Given the description of an element on the screen output the (x, y) to click on. 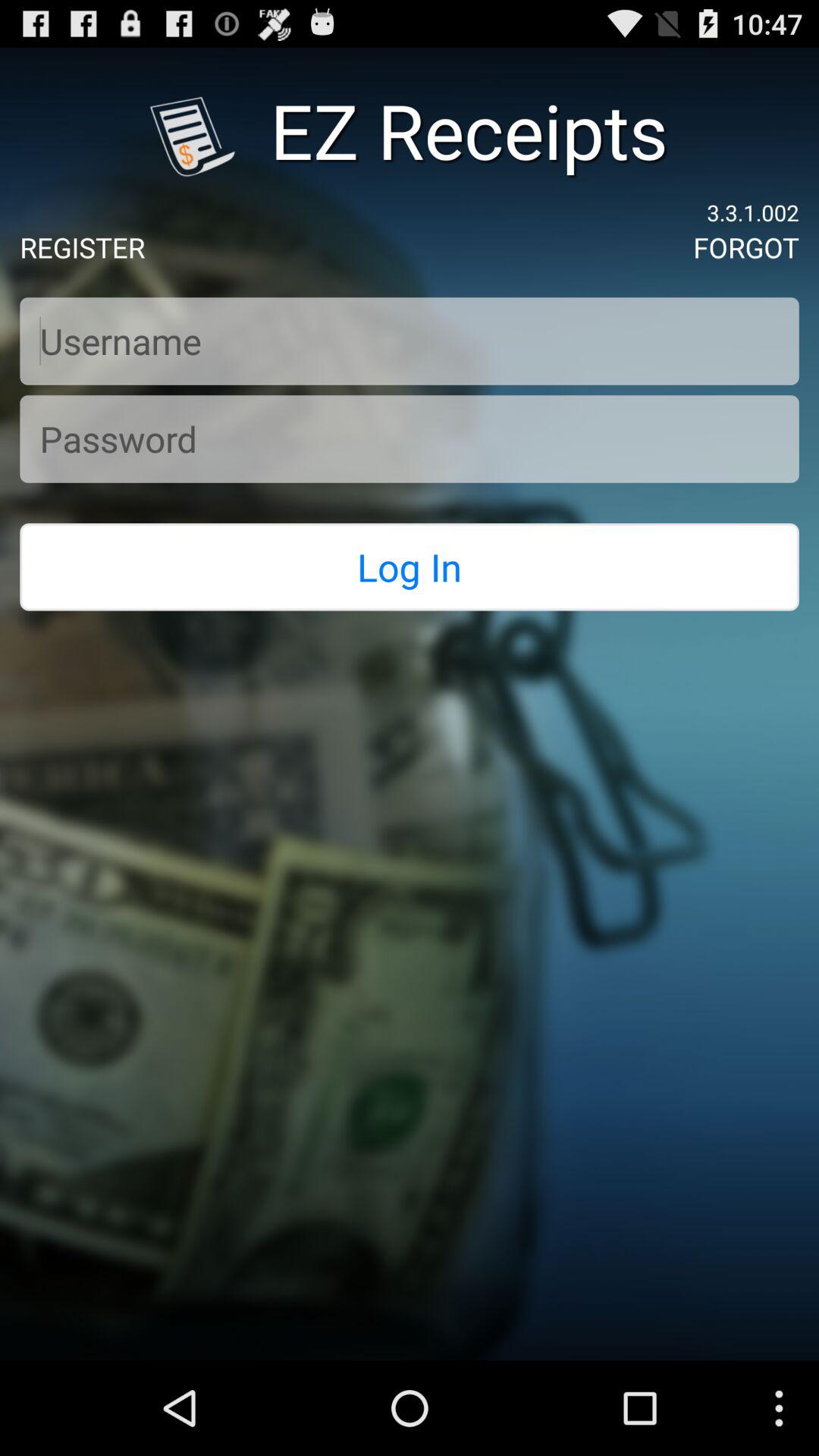
enter username (409, 341)
